Given the description of an element on the screen output the (x, y) to click on. 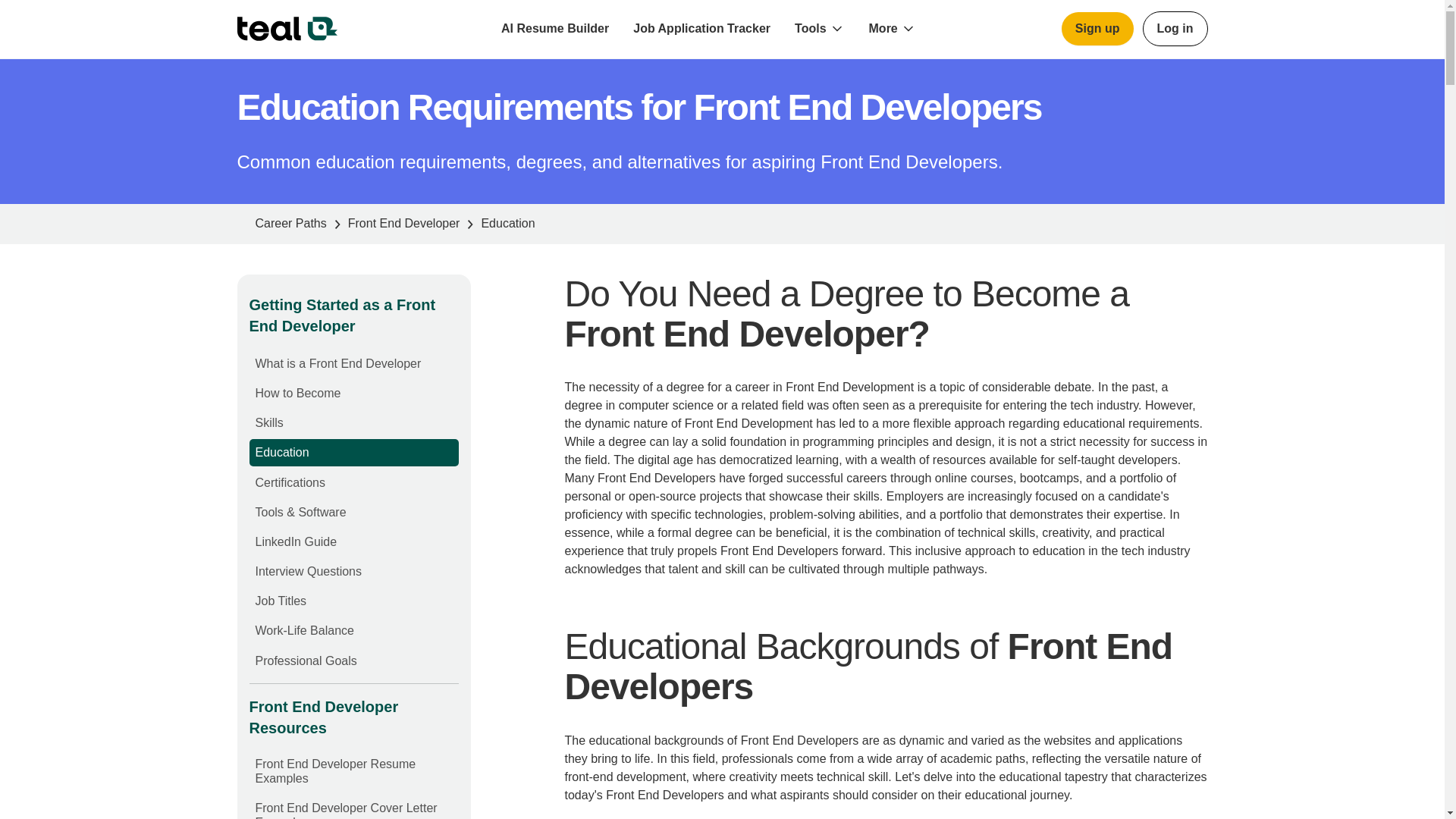
AI Resume Builder (555, 29)
Career Paths (290, 223)
Work-Life Balance (303, 630)
Skills (268, 422)
Tools (809, 28)
Certifications (289, 481)
Sign up (1097, 28)
Job Application Tracker (702, 29)
LinkedIn Guide (295, 541)
Front End Developer Resume Examples (334, 770)
Job Titles (279, 600)
What is a Front End Developer (337, 363)
How to Become (297, 392)
Education (281, 451)
Front End Developer Cover Letter Examples (345, 810)
